Given the description of an element on the screen output the (x, y) to click on. 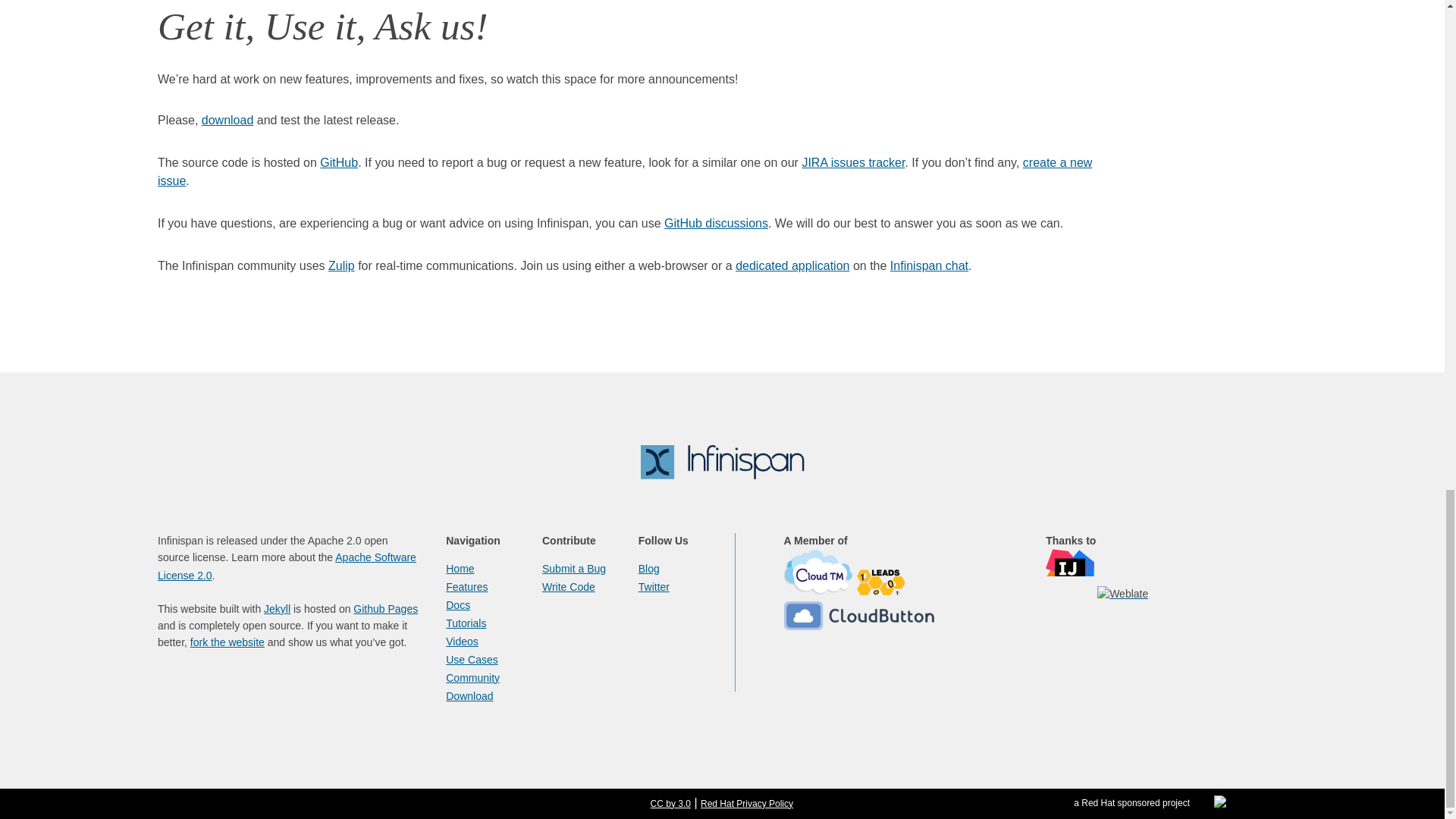
JIRA issues tracker (853, 162)
create a new issue (624, 171)
Github Pages (385, 608)
Weblate (1122, 593)
Infinispan Logo (721, 461)
GitHub (339, 162)
Infinispan chat (928, 265)
Jekyll (276, 608)
dedicated application (791, 265)
download (227, 119)
